Given the description of an element on the screen output the (x, y) to click on. 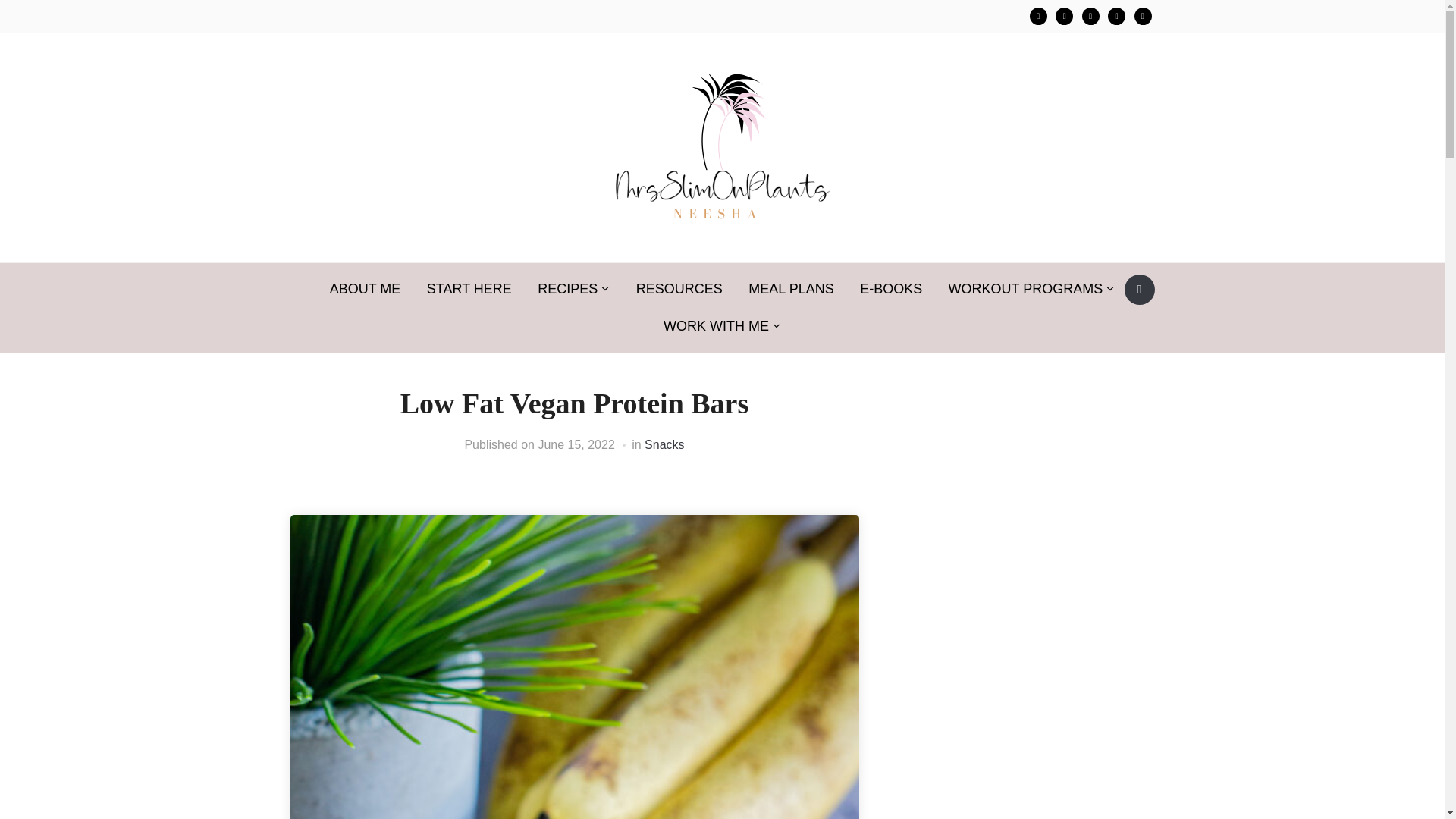
youtube-square (1142, 15)
pinterest (1064, 15)
Facebook (1037, 15)
Default Label (1142, 15)
tiktok (1090, 15)
facebook (1116, 15)
Twitter (1064, 15)
Default Label (1116, 15)
instagram (1037, 15)
Default Label (1090, 15)
